Given the description of an element on the screen output the (x, y) to click on. 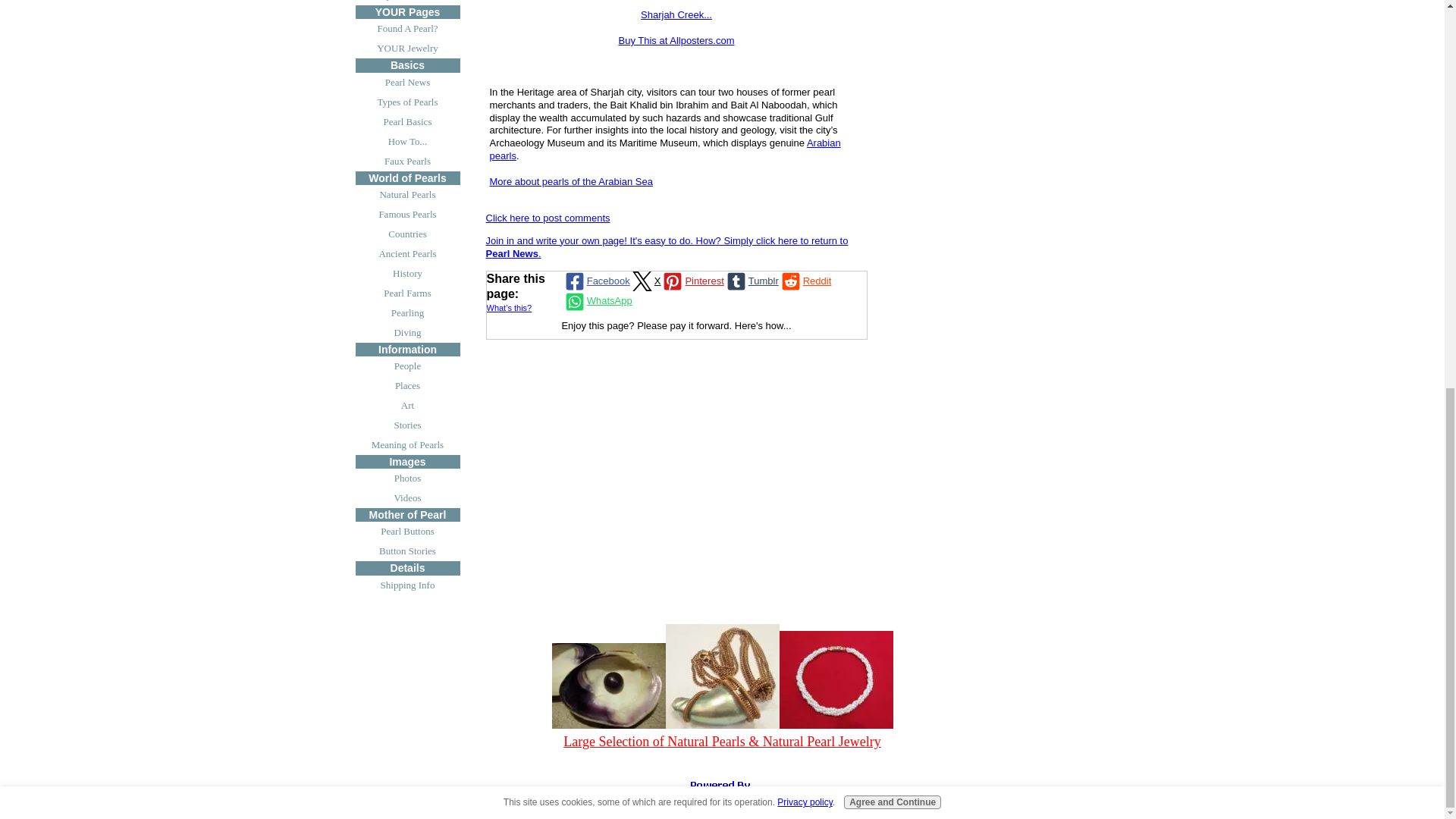
Found A Pearl? (407, 28)
Buy This at Allposters.com (676, 40)
Facebook (596, 281)
WhatsApp (596, 301)
Click here to post comments (547, 217)
More about pearls of the Arabian Sea (570, 181)
Pearl News (407, 82)
Types of Pearls (407, 102)
Pearl Basics (407, 121)
Sharjah Creek... (675, 14)
